Given the description of an element on the screen output the (x, y) to click on. 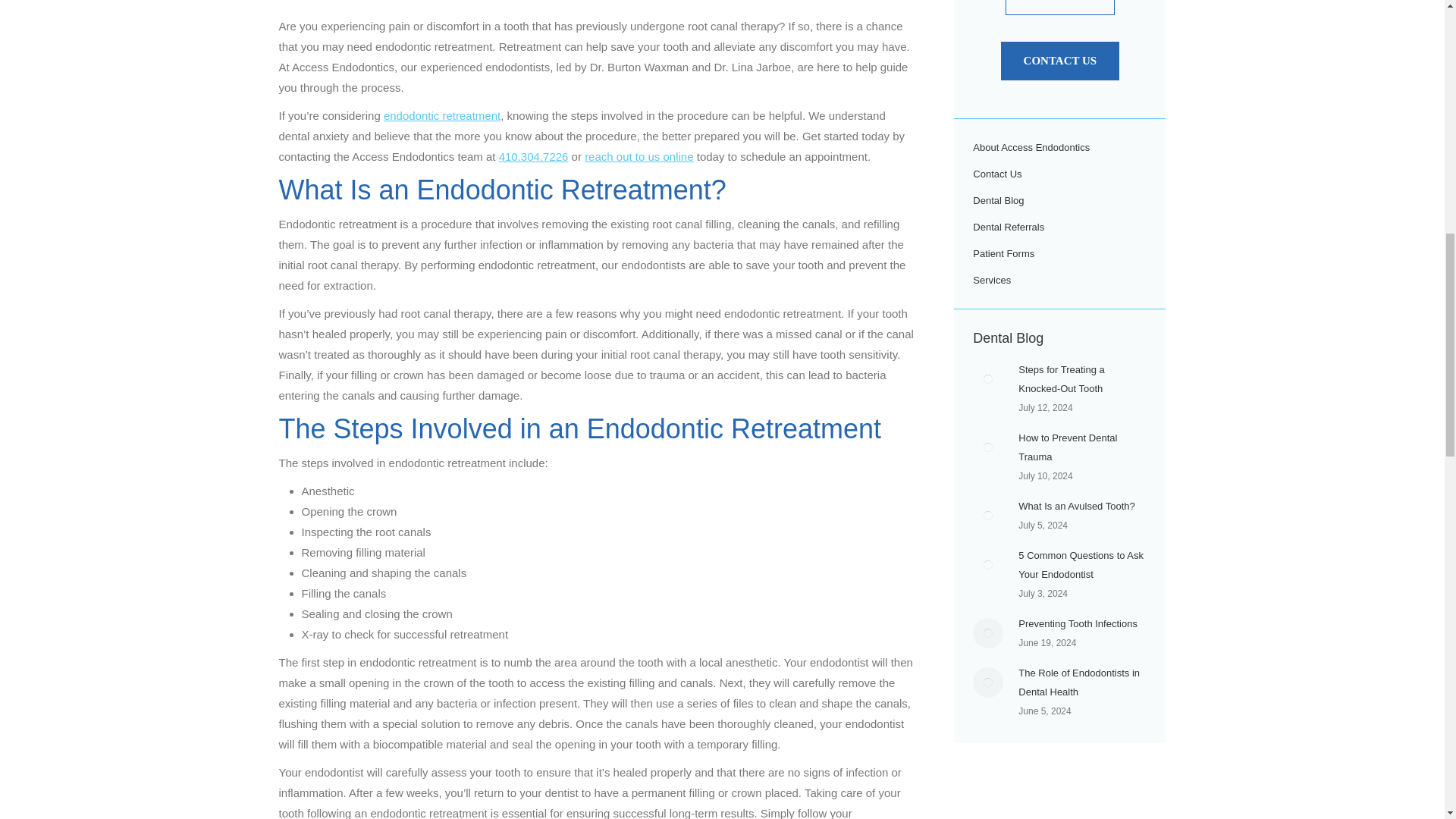
Contact Us (1060, 60)
